Given the description of an element on the screen output the (x, y) to click on. 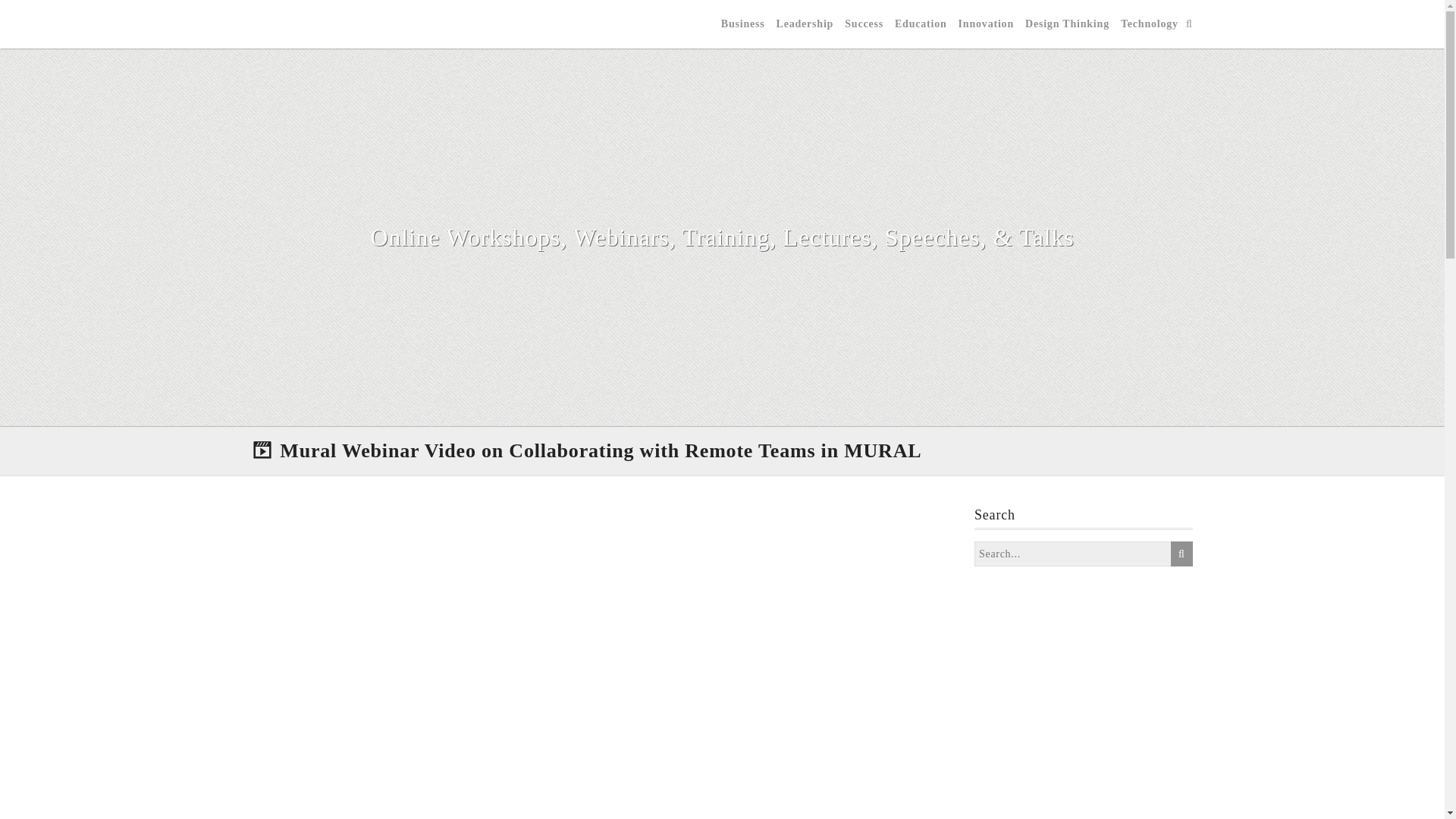
Business (742, 23)
Education (921, 23)
Technology (1149, 23)
Leadership (805, 23)
Design Thinking (1067, 23)
Innovation (985, 23)
Success (863, 23)
